Given the description of an element on the screen output the (x, y) to click on. 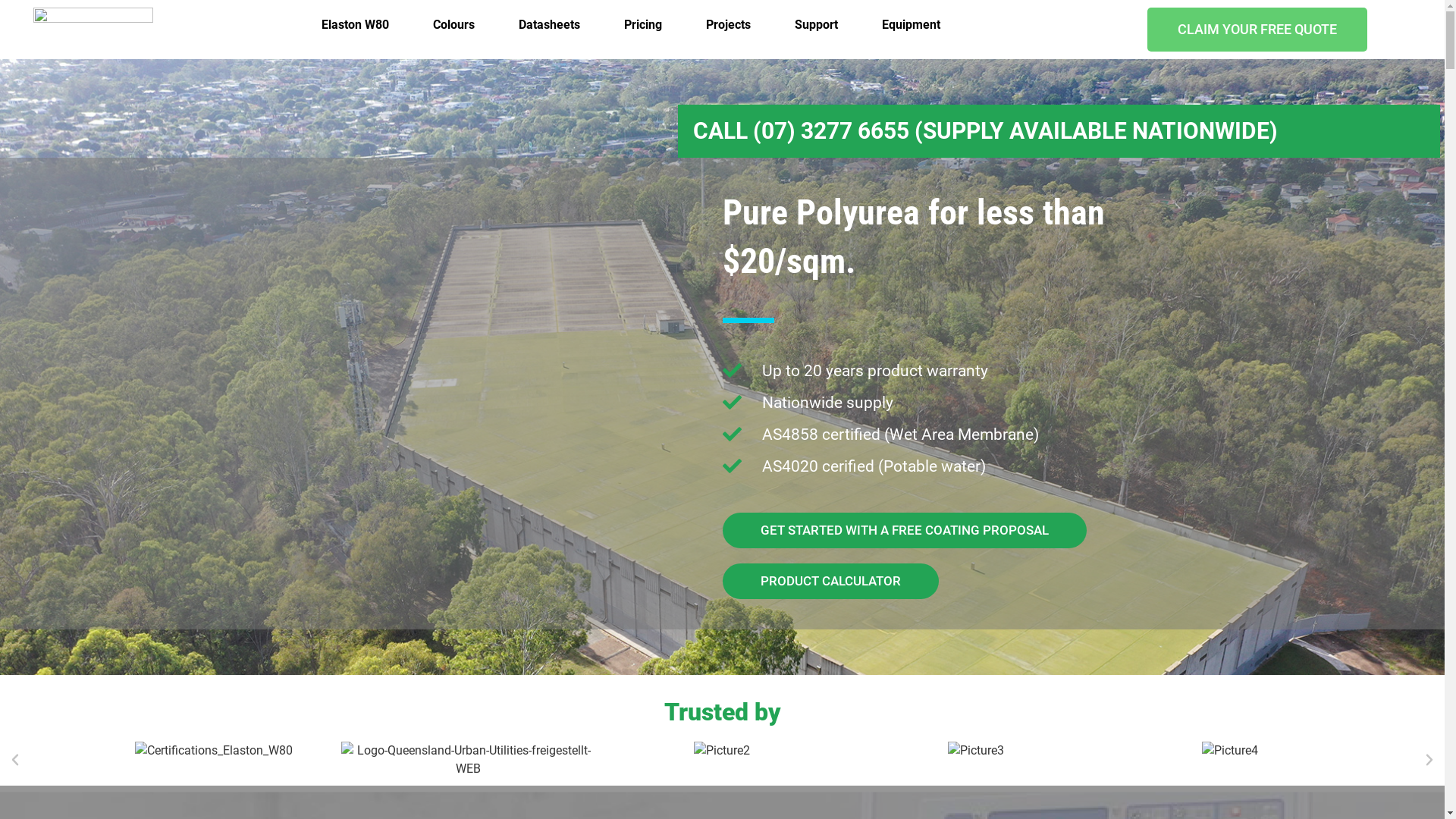
Projects Element type: text (728, 24)
Equipment Element type: text (910, 24)
Pricing Element type: text (643, 24)
Datasheets Element type: text (549, 24)
Support Element type: text (815, 24)
GET STARTED WITH A FREE COATING PROPOSAL Element type: text (903, 530)
Elaston W80 Element type: text (355, 24)
Colours Element type: text (453, 24)
CLAIM YOUR FREE QUOTE Element type: text (1257, 29)
PRODUCT CALCULATOR Element type: text (829, 581)
